Given the description of an element on the screen output the (x, y) to click on. 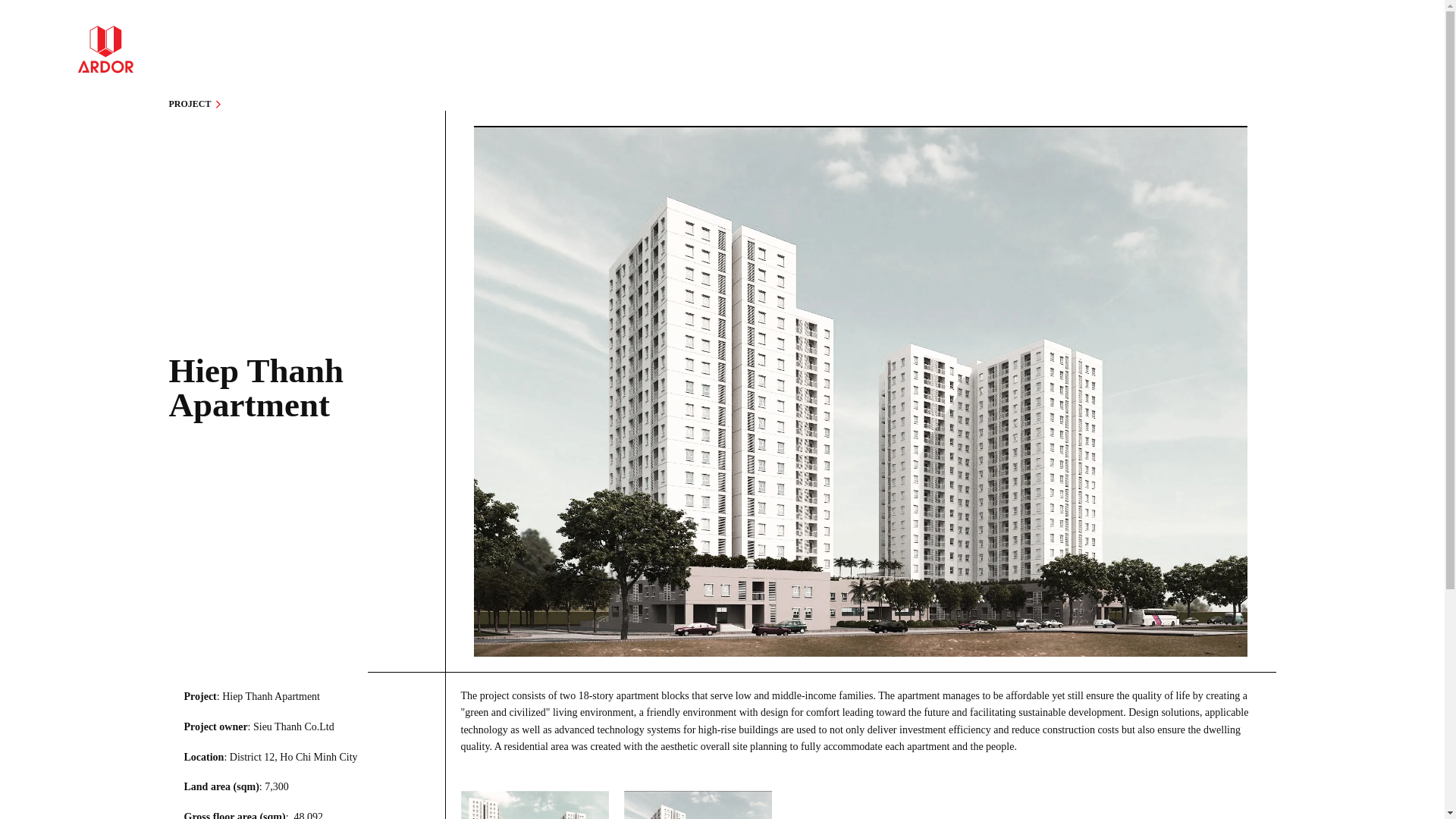
PROJECT (196, 103)
